Given the description of an element on the screen output the (x, y) to click on. 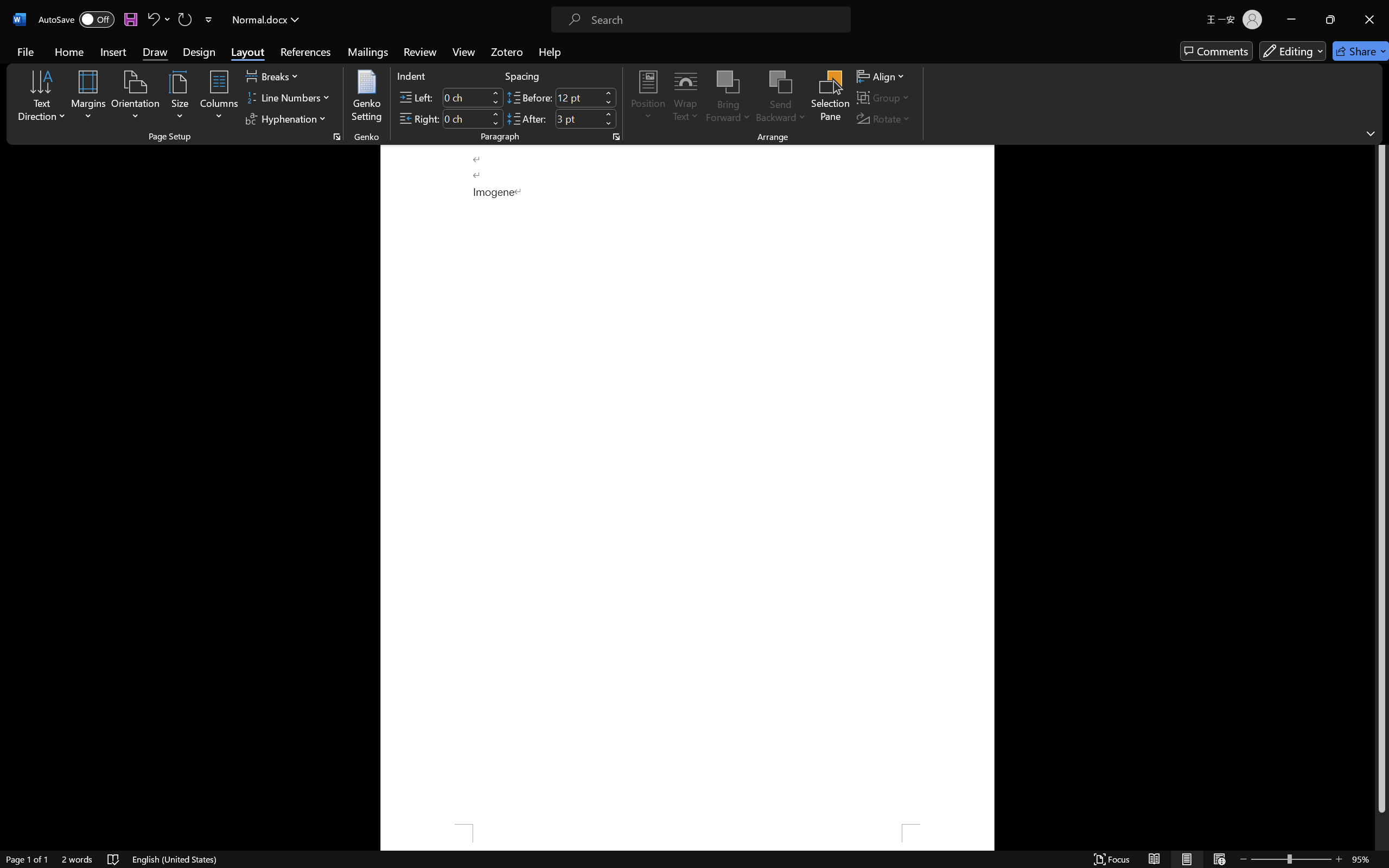
Line down (1382, 860)
Page down (1382, 832)
